Given the description of an element on the screen output the (x, y) to click on. 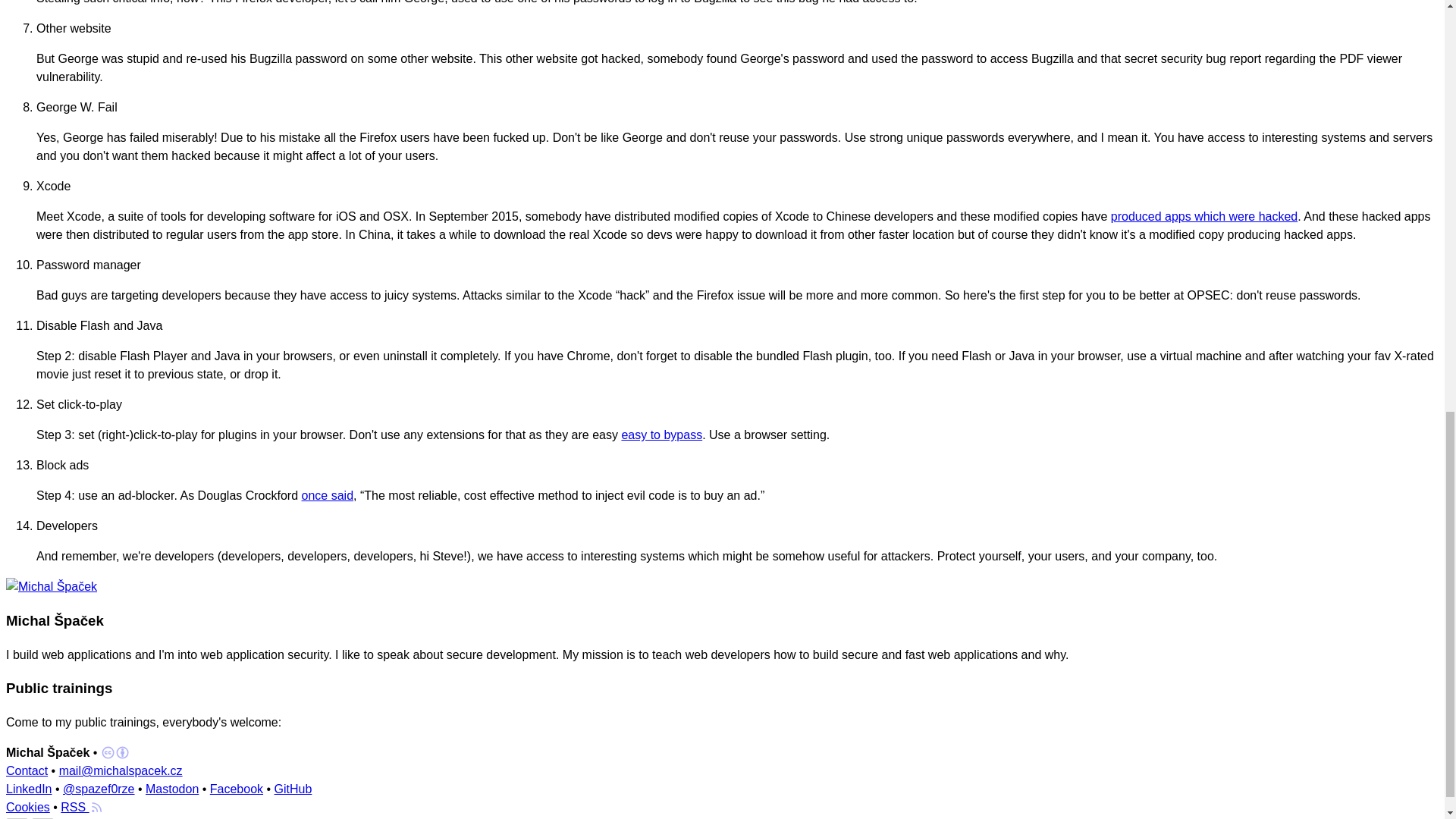
To home page (51, 587)
easy to bypass (661, 434)
Contact (26, 770)
RSS (82, 807)
LinkedIn (28, 788)
produced apps which were hacked (1203, 215)
Mastodon (171, 788)
Cookies (27, 807)
once said (327, 495)
